Given the description of an element on the screen output the (x, y) to click on. 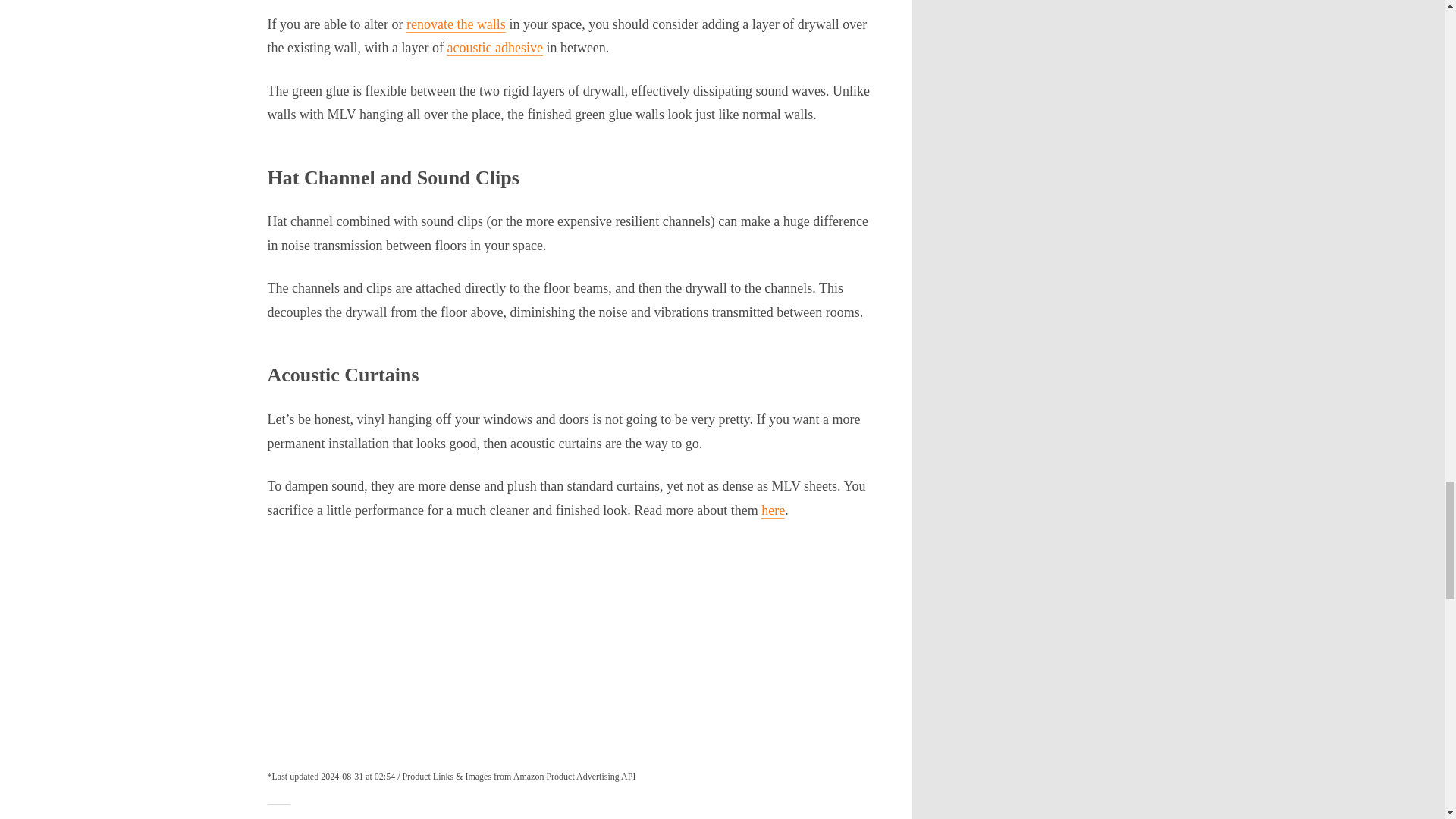
acoustic adhesive (493, 47)
renovate the walls (455, 23)
here (772, 509)
